Given the description of an element on the screen output the (x, y) to click on. 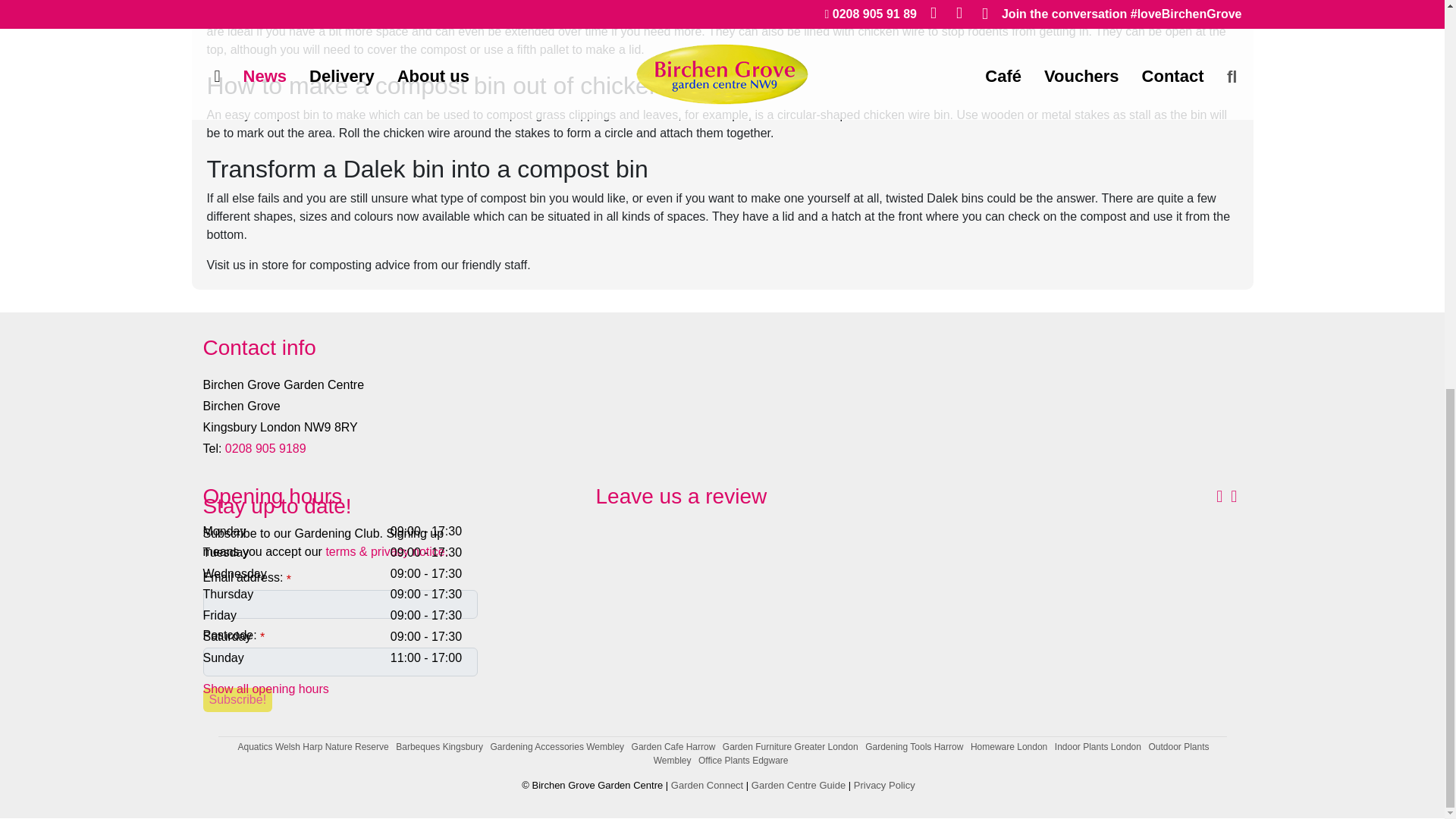
Subscribe! (238, 700)
Indoor Plants London (1097, 747)
Homeware London (1008, 747)
Subscribe! (238, 700)
Garden Cafe Harrow (673, 747)
Gardening Tools Harrow (913, 747)
Show all opening hours (266, 688)
Office Plants Edgware (743, 760)
Stay up to date! (340, 506)
Contact info (722, 347)
Garden Furniture Greater London (790, 747)
Gardening Accessories Wembley (557, 747)
Outdoor Plants Wembley (931, 753)
Aquatics Welsh Harp Nature Reserve (313, 747)
Garden Connect (706, 785)
